Given the description of an element on the screen output the (x, y) to click on. 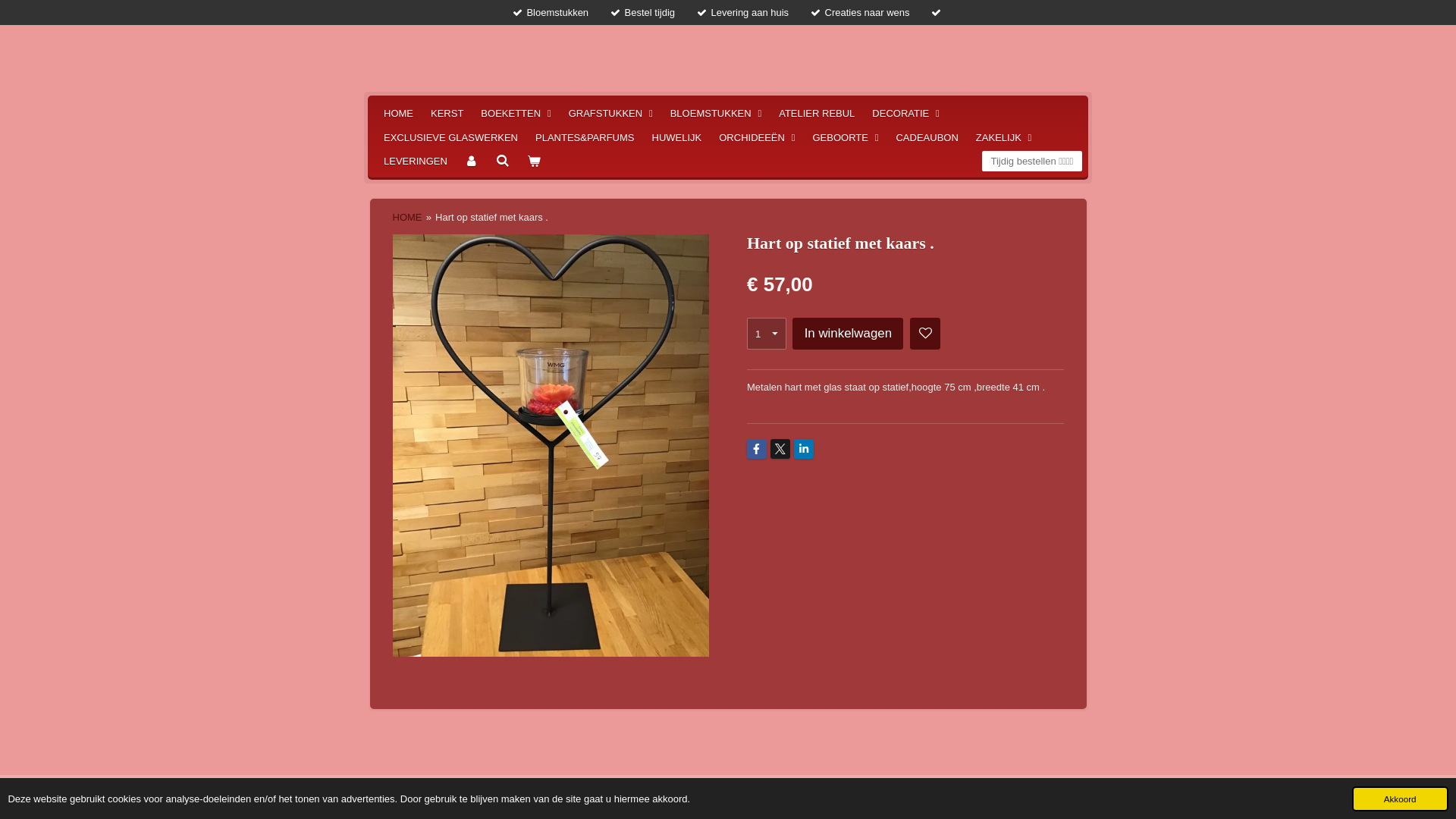
GRAFSTUKKEN Element type: text (610, 113)
Toevoegen aan verlanglijst Element type: hover (925, 333)
Toevoegen aan verlanglijst Element type: hover (925, 333)
EXCLUSIEVE GLASWERKEN Element type: text (450, 137)
HUWELIJK Element type: text (676, 137)
Akkoord Element type: text (1400, 798)
BOEKETTEN Element type: text (515, 113)
Hart op statief met kaars . Element type: text (491, 216)
LEVERINGEN Element type: text (415, 161)
DECORATIE Element type: text (905, 113)
ATELIER REBUL Element type: text (816, 113)
Account Element type: hover (471, 161)
PLANTES&PARFUMS Element type: text (584, 137)
HOME Element type: text (398, 113)
KERST Element type: text (446, 113)
BLOEMSTUKKEN Element type: text (715, 113)
CADEAUBON Element type: text (926, 137)
Zoeken Element type: hover (502, 161)
ZAKELIJK Element type: text (1003, 137)
In winkelwagen Element type: text (847, 333)
GEBOORTE Element type: text (844, 137)
HOME Element type: text (407, 216)
Bekijk winkelwagen Element type: hover (533, 161)
